Given the description of an element on the screen output the (x, y) to click on. 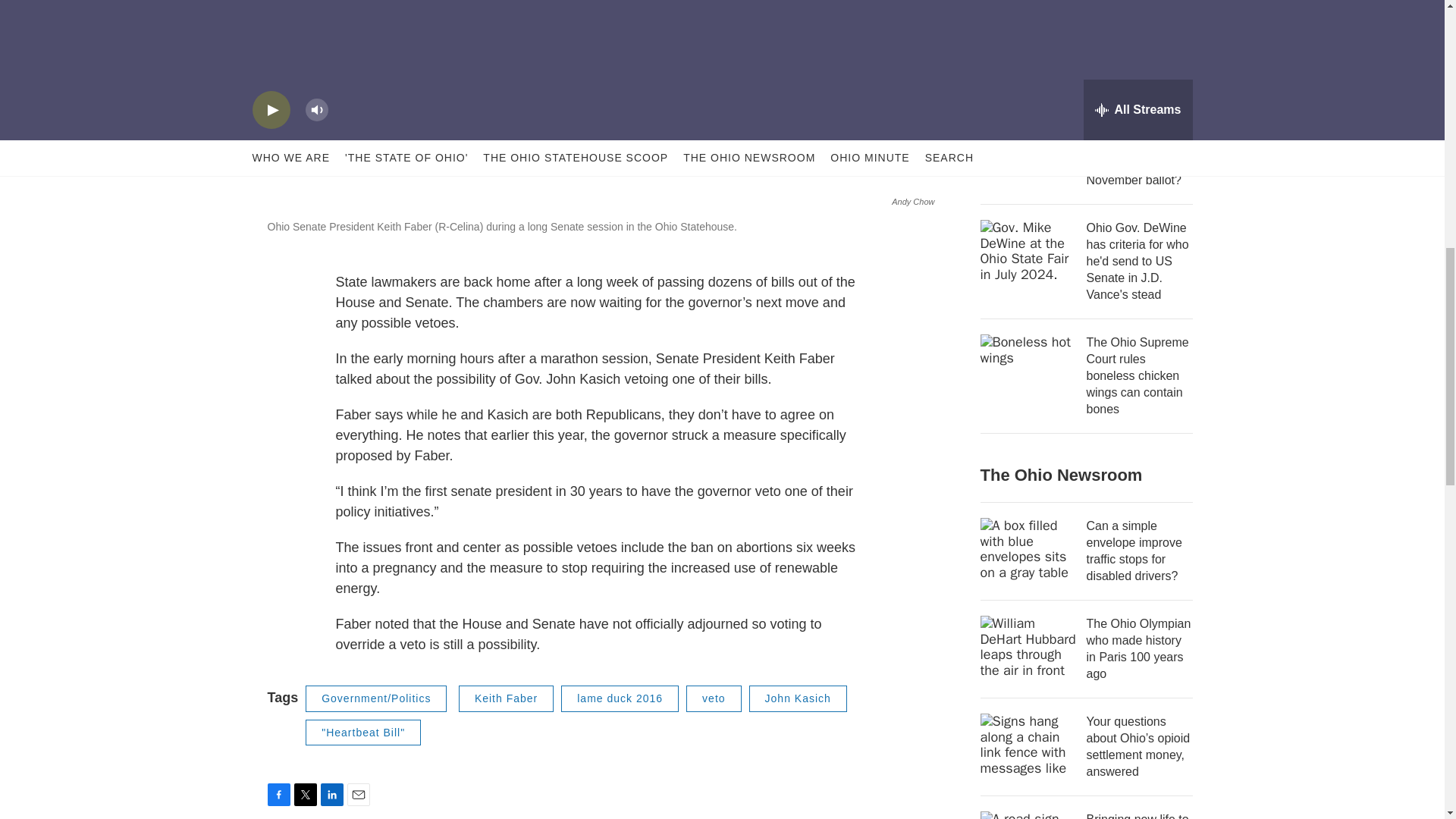
Keith Faber (505, 698)
veto (713, 698)
lame duck 2016 (619, 698)
